Given the description of an element on the screen output the (x, y) to click on. 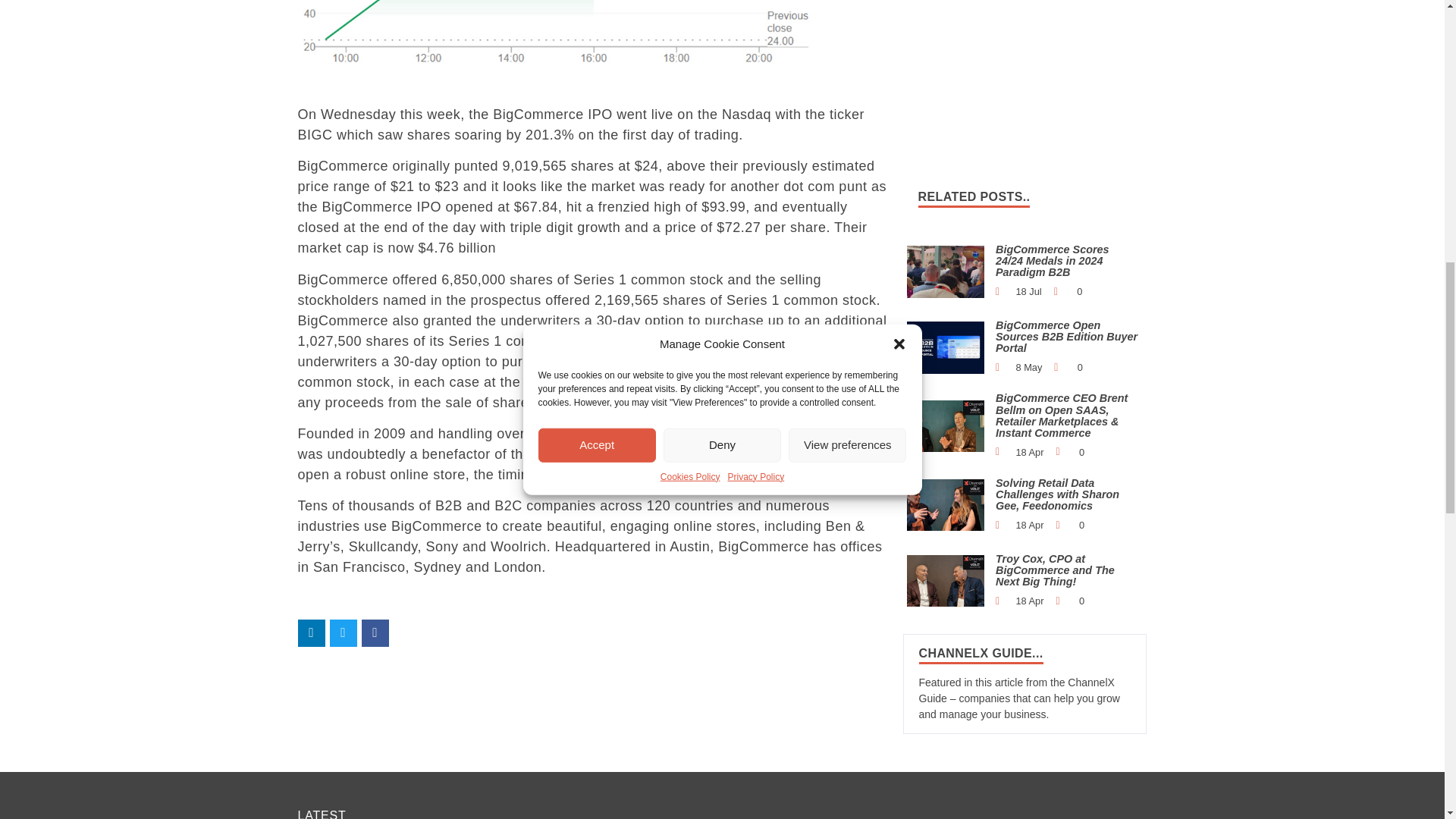
Solving Retail Data Challenges with Sharon Gee, Feedonomics (946, 504)
BigCommerce Open Sources B2B Edition Buyer Portal (946, 347)
Troy COX, CPO at BigCommerce and The Next Big Thing! (946, 580)
BigCommerce Scores 24 out of 24 Medals in 2024 Paradigm B2B (946, 271)
